Given the description of an element on the screen output the (x, y) to click on. 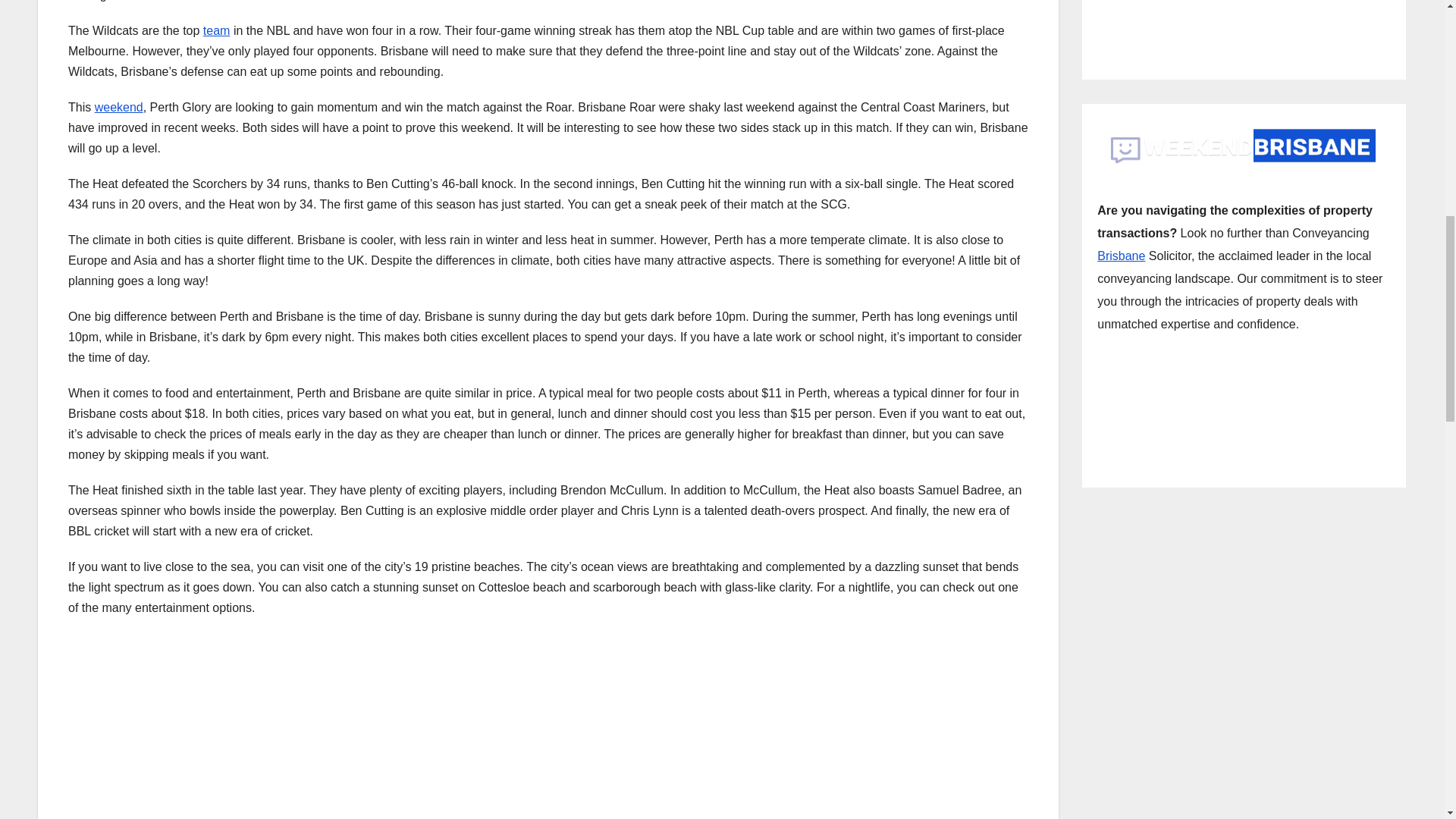
weekend (118, 106)
team (216, 30)
